Given the description of an element on the screen output the (x, y) to click on. 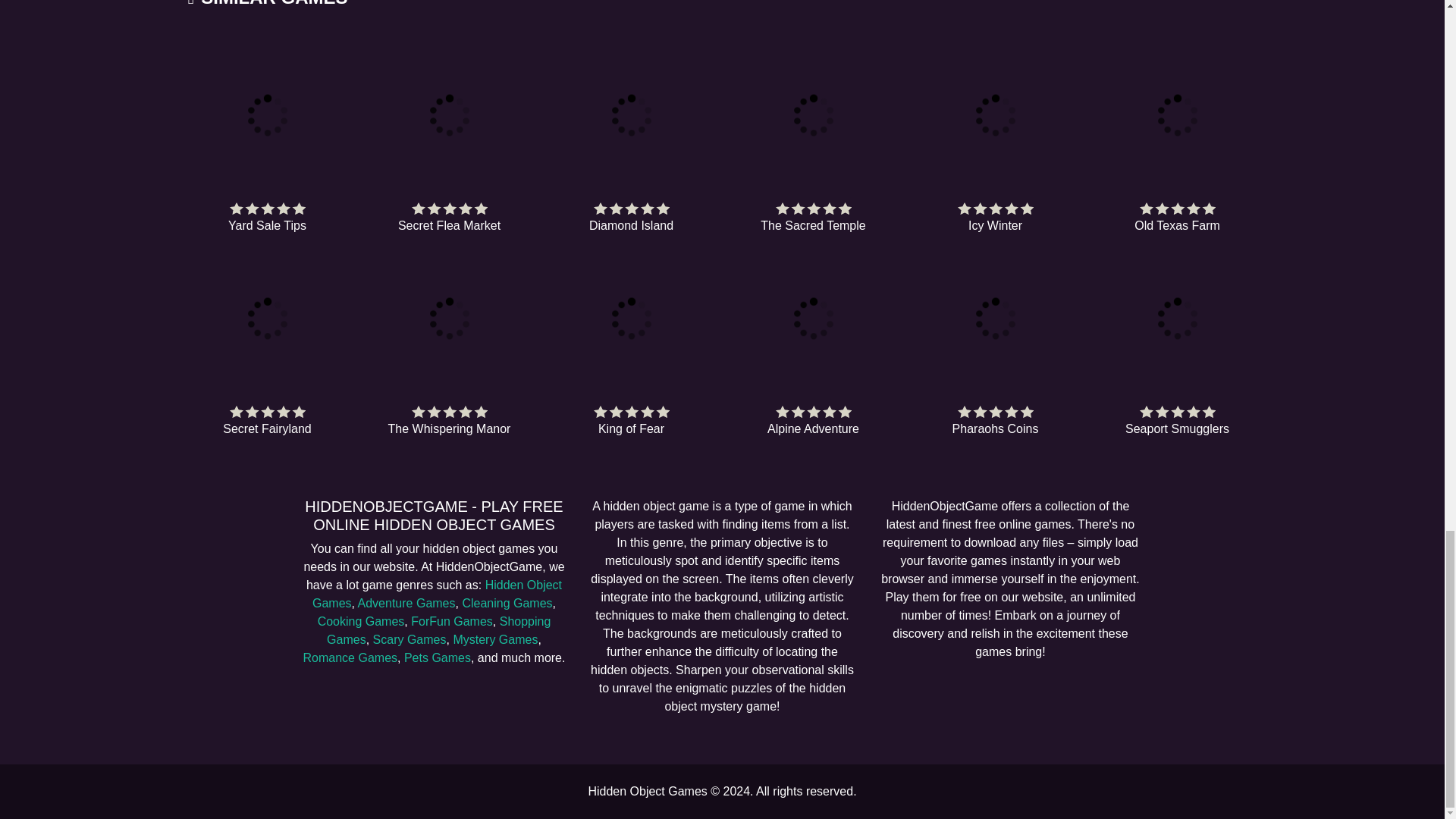
All Romance Games (349, 657)
All Scary Games (409, 639)
All Cleaning Games (506, 603)
All ForFun Games (451, 621)
All Shopping Games (438, 630)
All Pets Games (437, 657)
All Adventure Games (406, 603)
All Puzzle Games (494, 639)
All Cooking Games (360, 621)
All Hidden Object Games (437, 593)
